Given the description of an element on the screen output the (x, y) to click on. 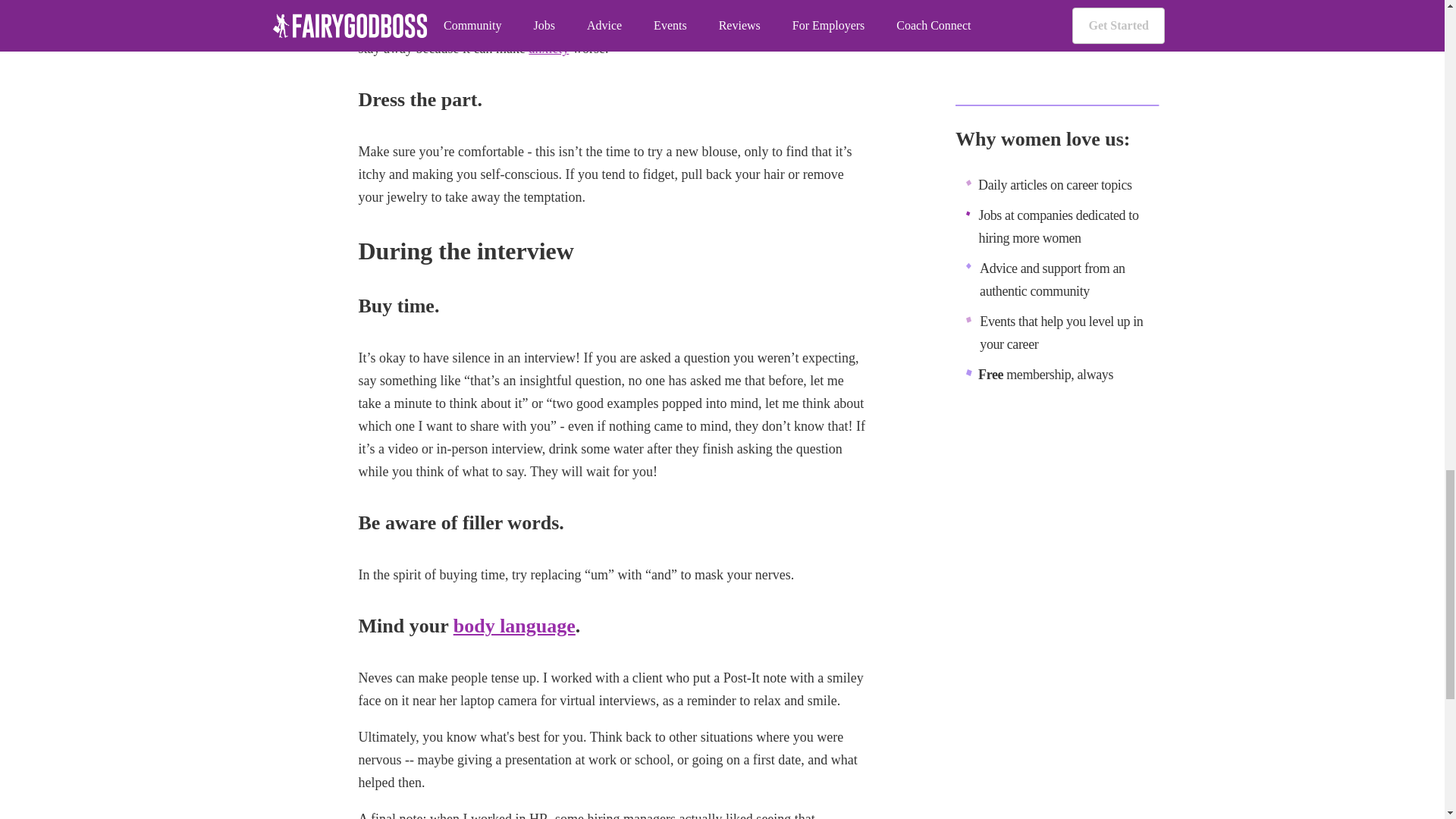
body language (513, 626)
anxiety (548, 48)
